Given the description of an element on the screen output the (x, y) to click on. 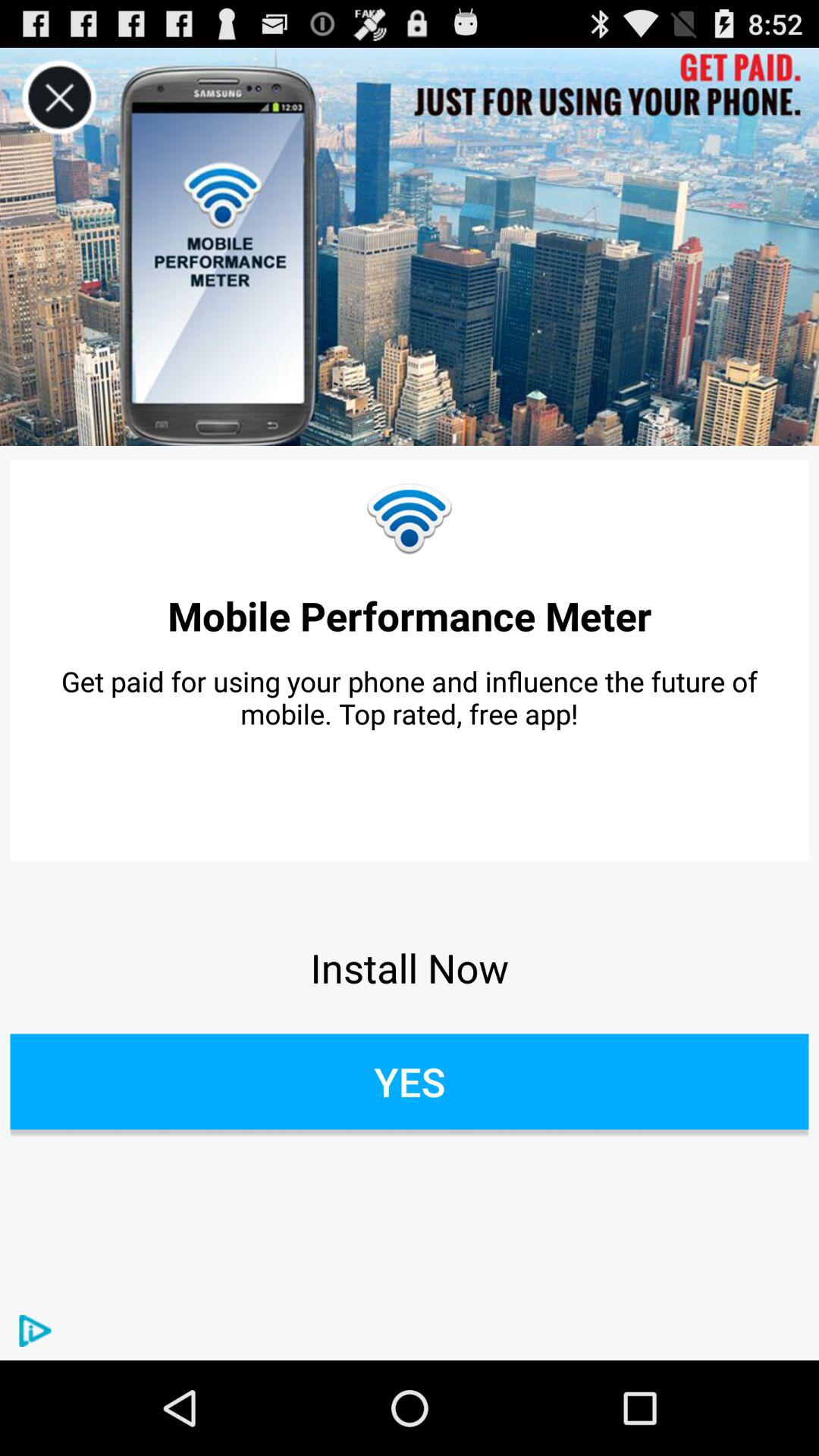
open yes button (409, 1081)
